Given the description of an element on the screen output the (x, y) to click on. 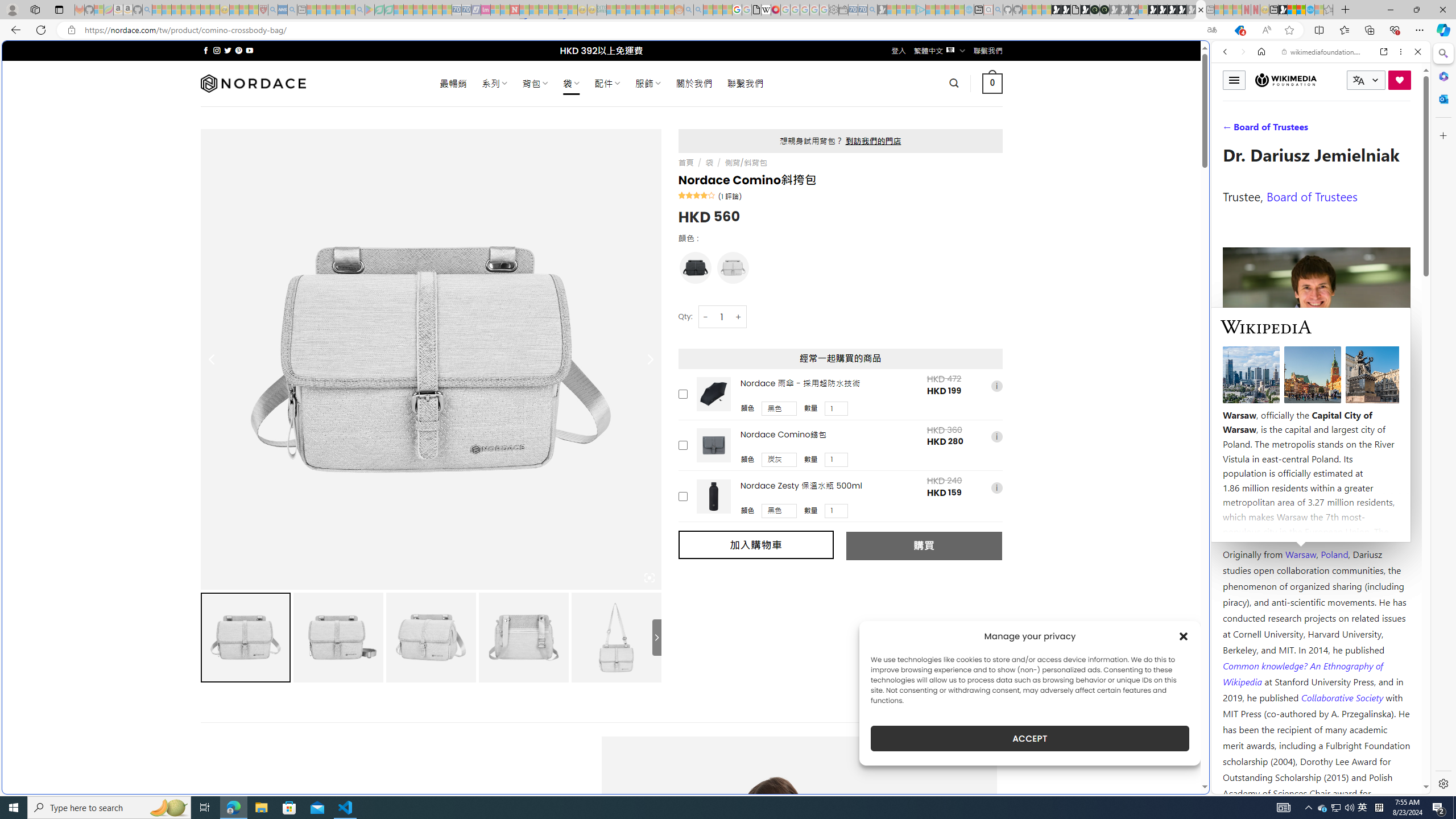
Search or enter web address (922, 108)
Class: cmplz-close (1183, 636)
Frequently visited (965, 151)
Add this product to cart (682, 496)
